Given the description of an element on the screen output the (x, y) to click on. 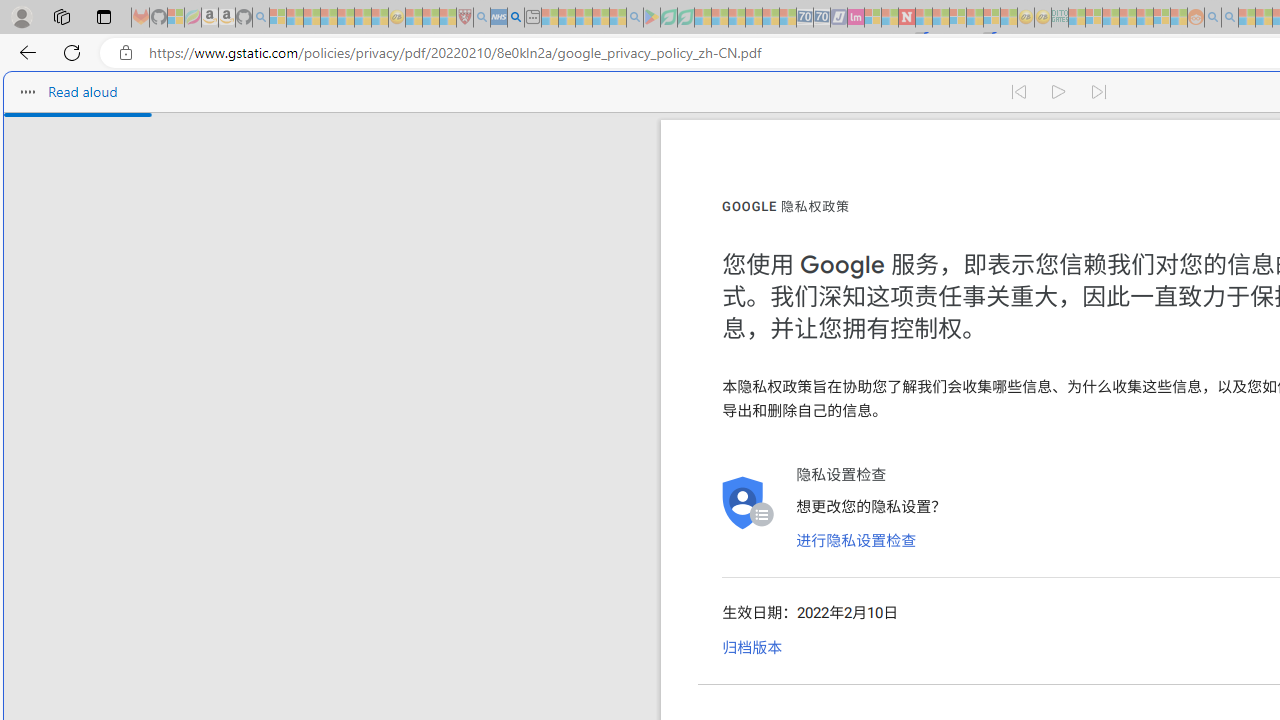
The Weather Channel - MSN - Sleeping (311, 17)
Trusted Community Engagement and Contributions | Guidelines (923, 17)
DITOGAMES AG Imprint - Sleeping (1059, 17)
utah sues federal government - Search (515, 17)
Cheap Hotels - Save70.com - Sleeping (821, 17)
New Report Confirms 2023 Was Record Hot | Watch - Sleeping (345, 17)
Read next paragraph (1099, 92)
14 Common Myths Debunked By Scientific Facts - Sleeping (940, 17)
Kinda Frugal - MSN - Sleeping (1144, 17)
